Given the description of an element on the screen output the (x, y) to click on. 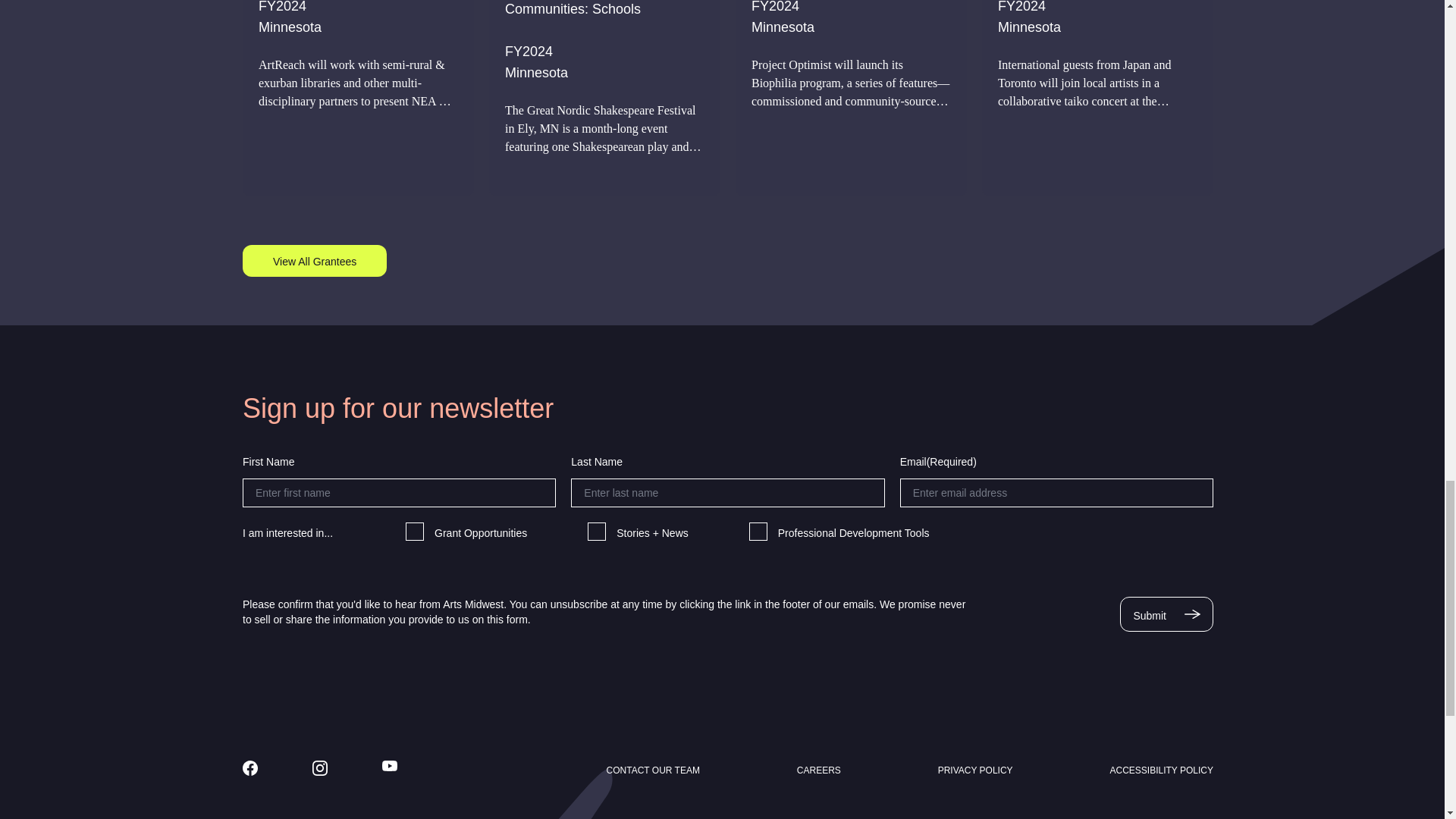
Contact Our Team (653, 769)
Professional Development Tools (758, 531)
Accessibility Policy (1160, 769)
Follow us on Facebook (250, 767)
Follow us on Instagram (320, 767)
Careers (818, 769)
Privacy Policy (975, 769)
Grant Opportunities (414, 531)
Follow us on Youtube (389, 765)
